Given the description of an element on the screen output the (x, y) to click on. 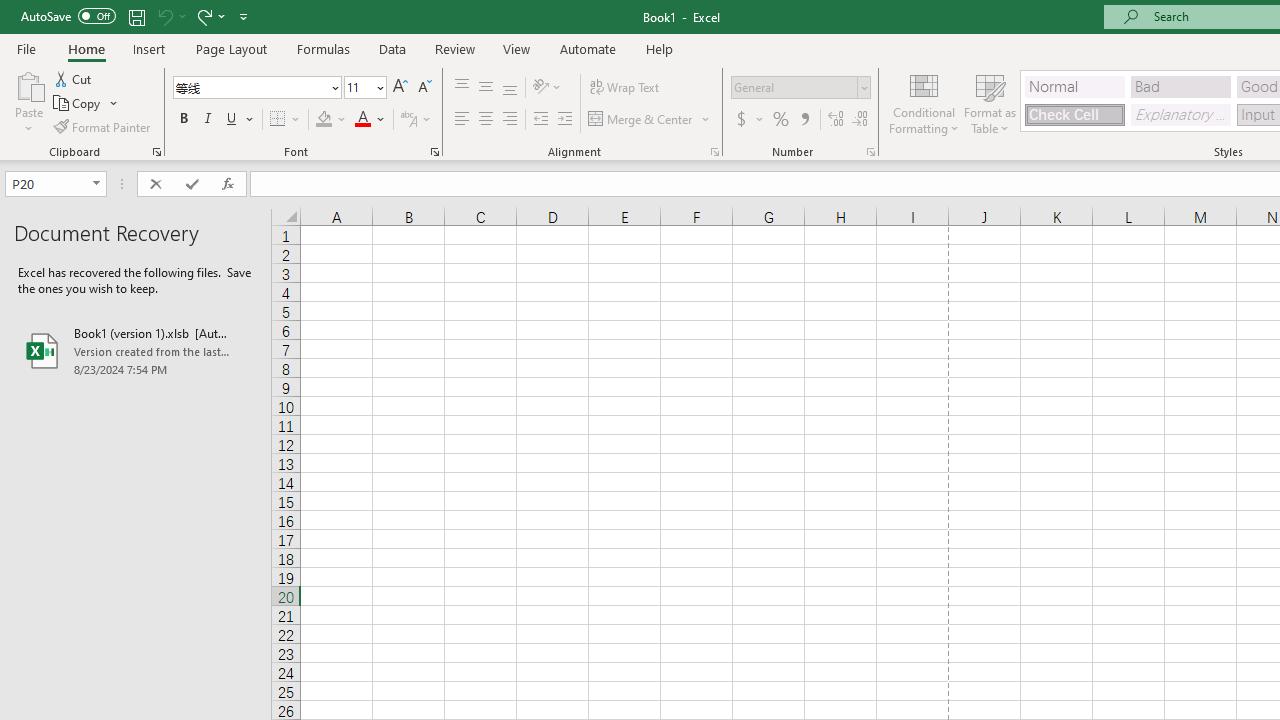
Conditional Formatting (924, 102)
Top Align (461, 87)
Cut (73, 78)
Accounting Number Format (741, 119)
Check Cell (1074, 114)
Number Format (794, 87)
Fill Color (331, 119)
Office Clipboard... (156, 151)
Decrease Indent (540, 119)
Paste (28, 84)
